Given the description of an element on the screen output the (x, y) to click on. 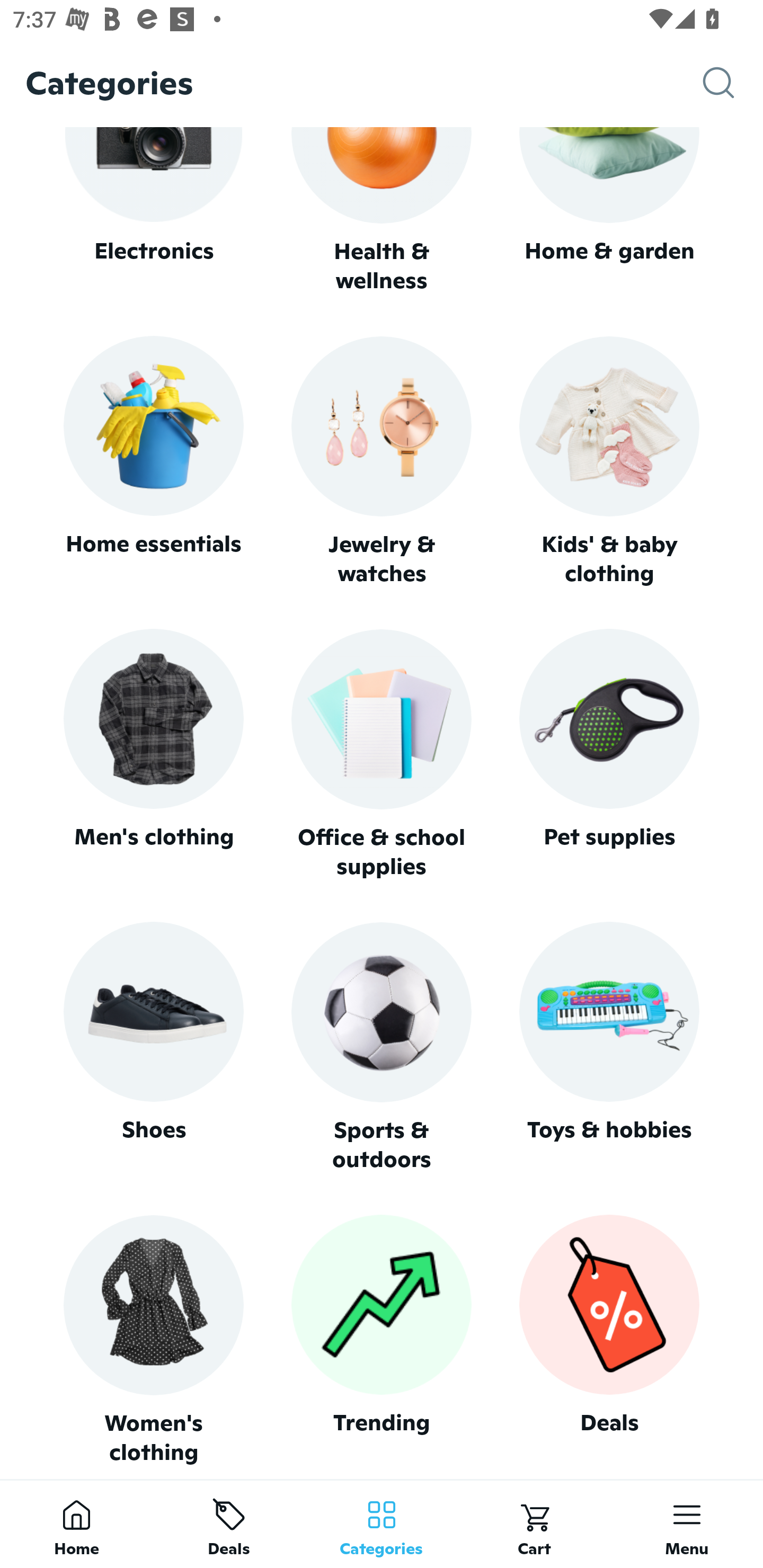
Search (732, 82)
Electronics (153, 210)
Health & wellness (381, 210)
Home & garden (609, 210)
Home essentials (153, 461)
Jewelry & watches (381, 462)
Kids' & baby clothing (609, 462)
Men's clothing (153, 753)
Pet supplies (609, 753)
Office & school supplies (381, 753)
Shoes (153, 1046)
Toys & hobbies (609, 1046)
Sports & outdoors (381, 1046)
Trending (381, 1340)
Deals (609, 1340)
Women's clothing (153, 1340)
Home (76, 1523)
Deals (228, 1523)
Categories (381, 1523)
Cart (533, 1523)
Menu (686, 1523)
